Given the description of an element on the screen output the (x, y) to click on. 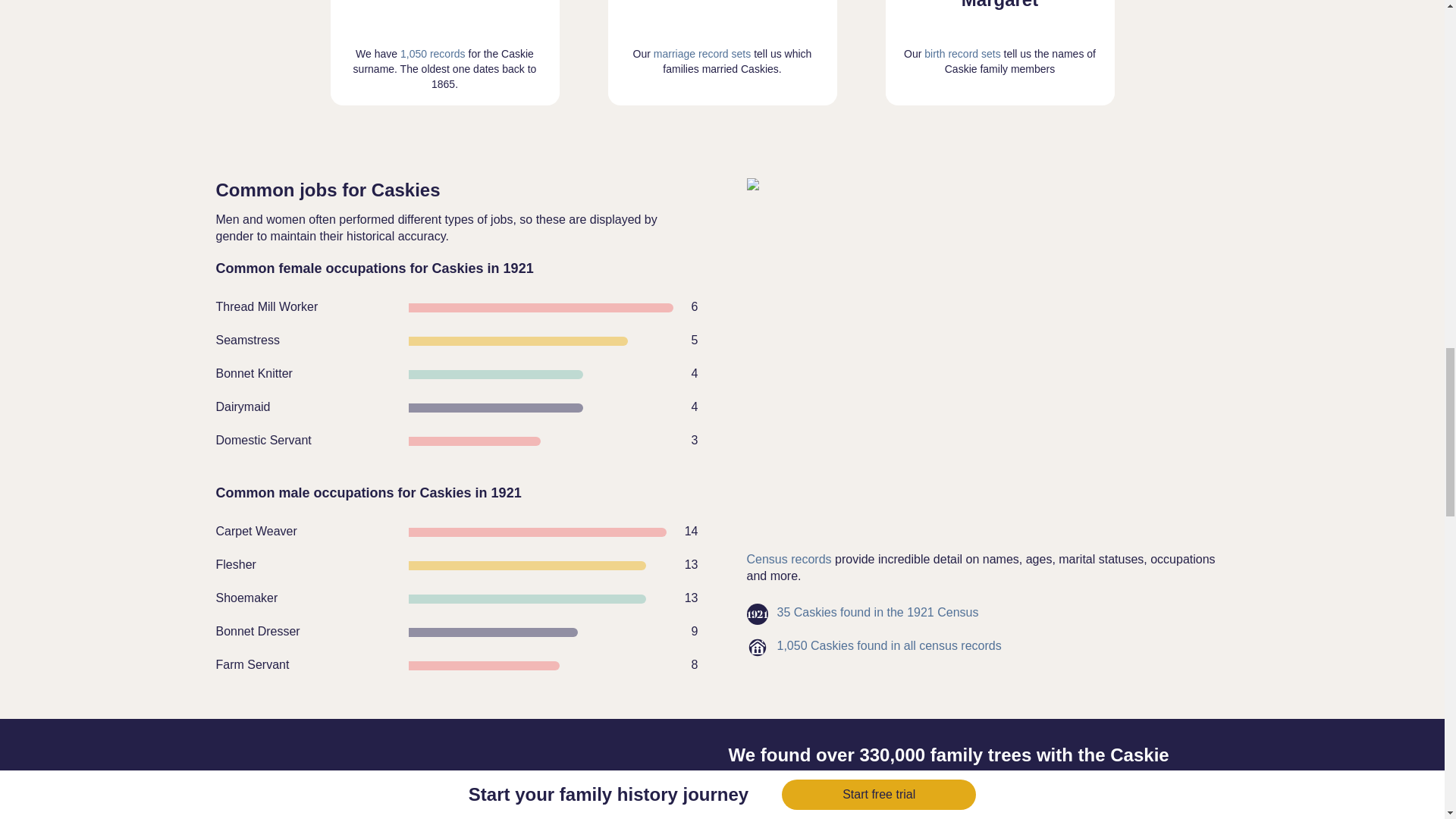
1,050 records (432, 53)
marriage record sets (702, 53)
Census records (788, 558)
1,050 Caskies found in all census records (888, 646)
35 Caskies found in the 1921 Census (877, 612)
birth record sets (962, 53)
